Given the description of an element on the screen output the (x, y) to click on. 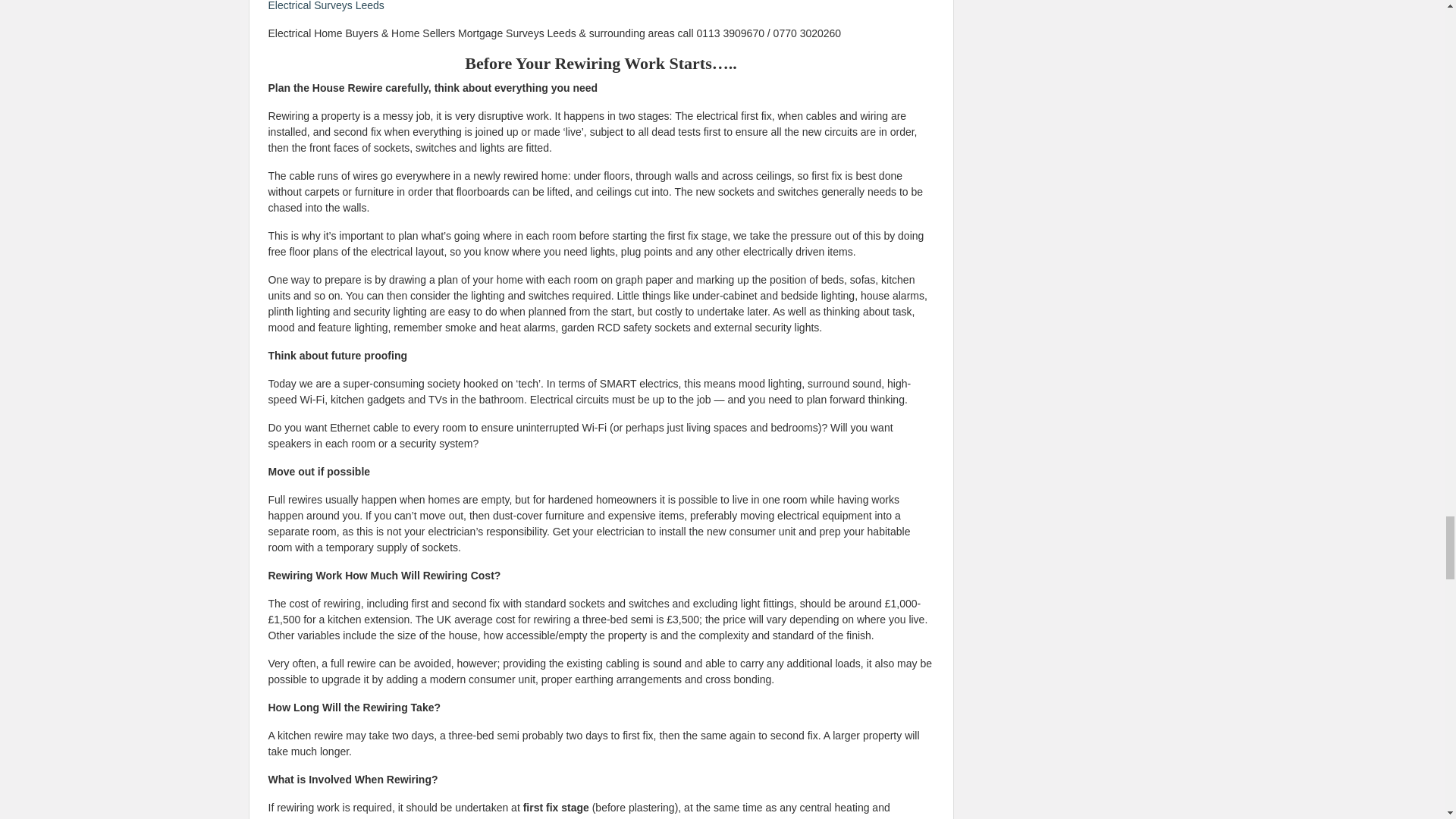
Electrical Surveys Leeds (325, 5)
